Given the description of an element on the screen output the (x, y) to click on. 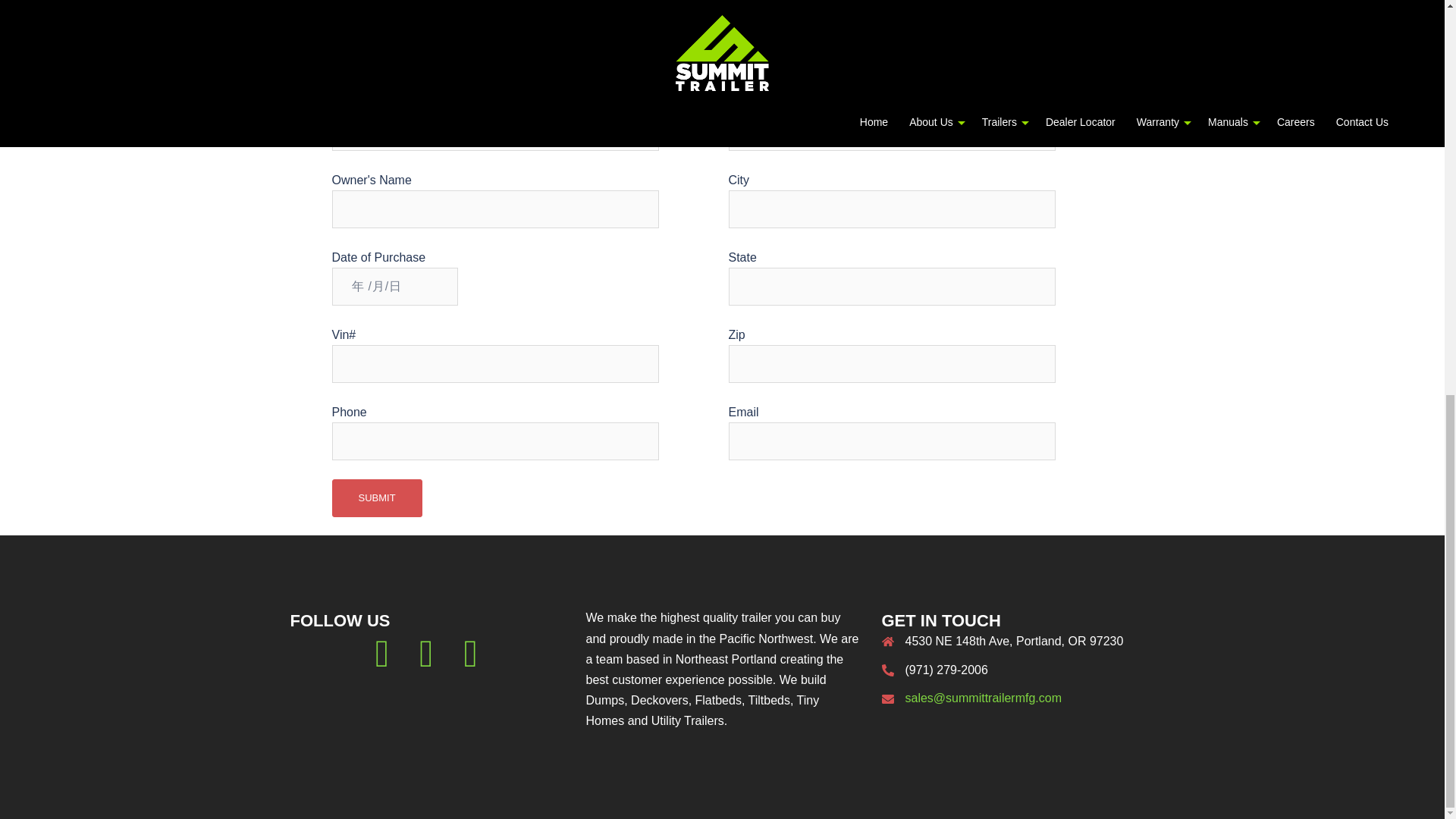
LinkedIn (470, 662)
Submit (376, 497)
Instagram (425, 662)
Submit (376, 497)
Facebook (381, 662)
